Given the description of an element on the screen output the (x, y) to click on. 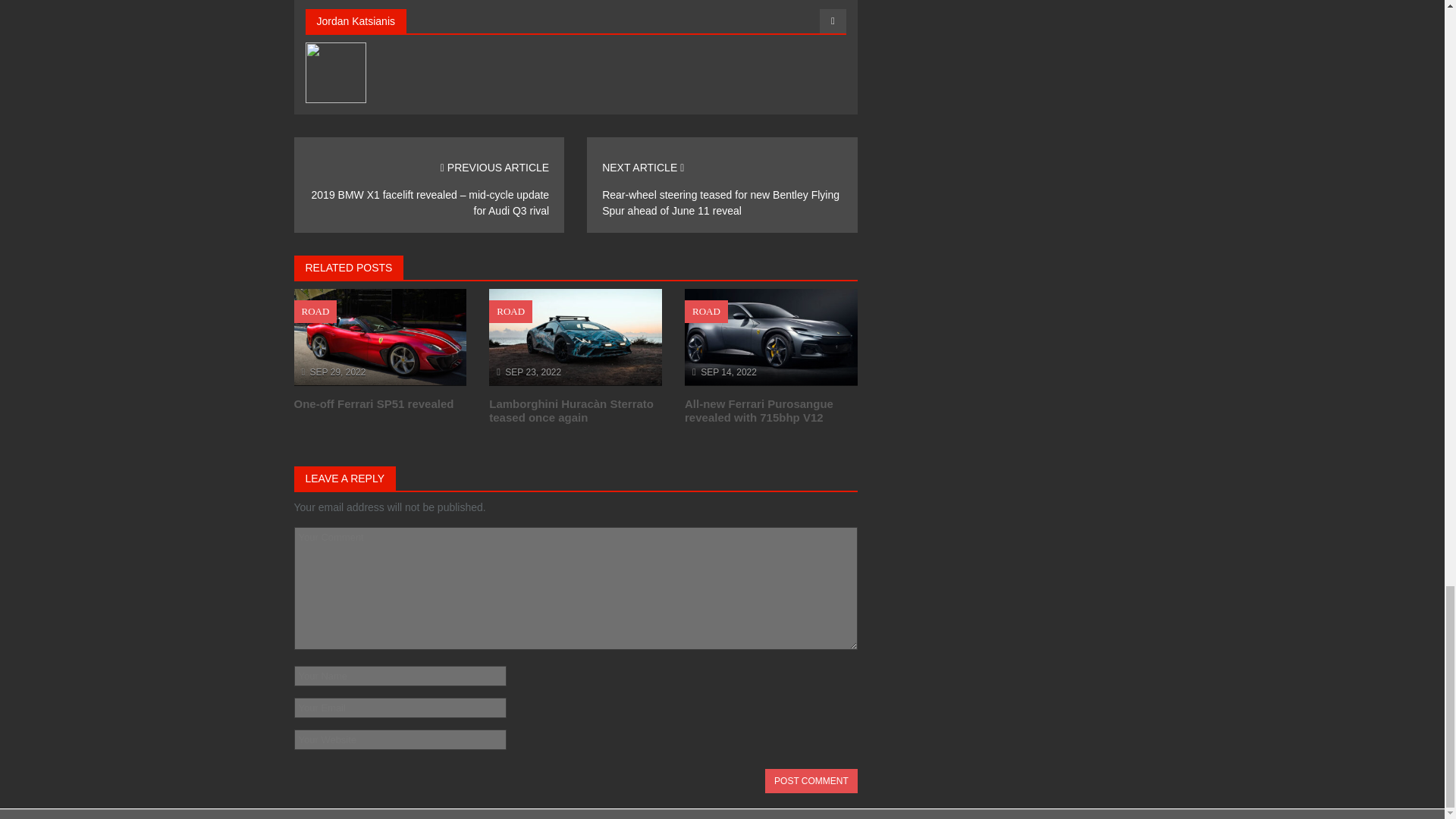
Post Comment (811, 781)
